Given the description of an element on the screen output the (x, y) to click on. 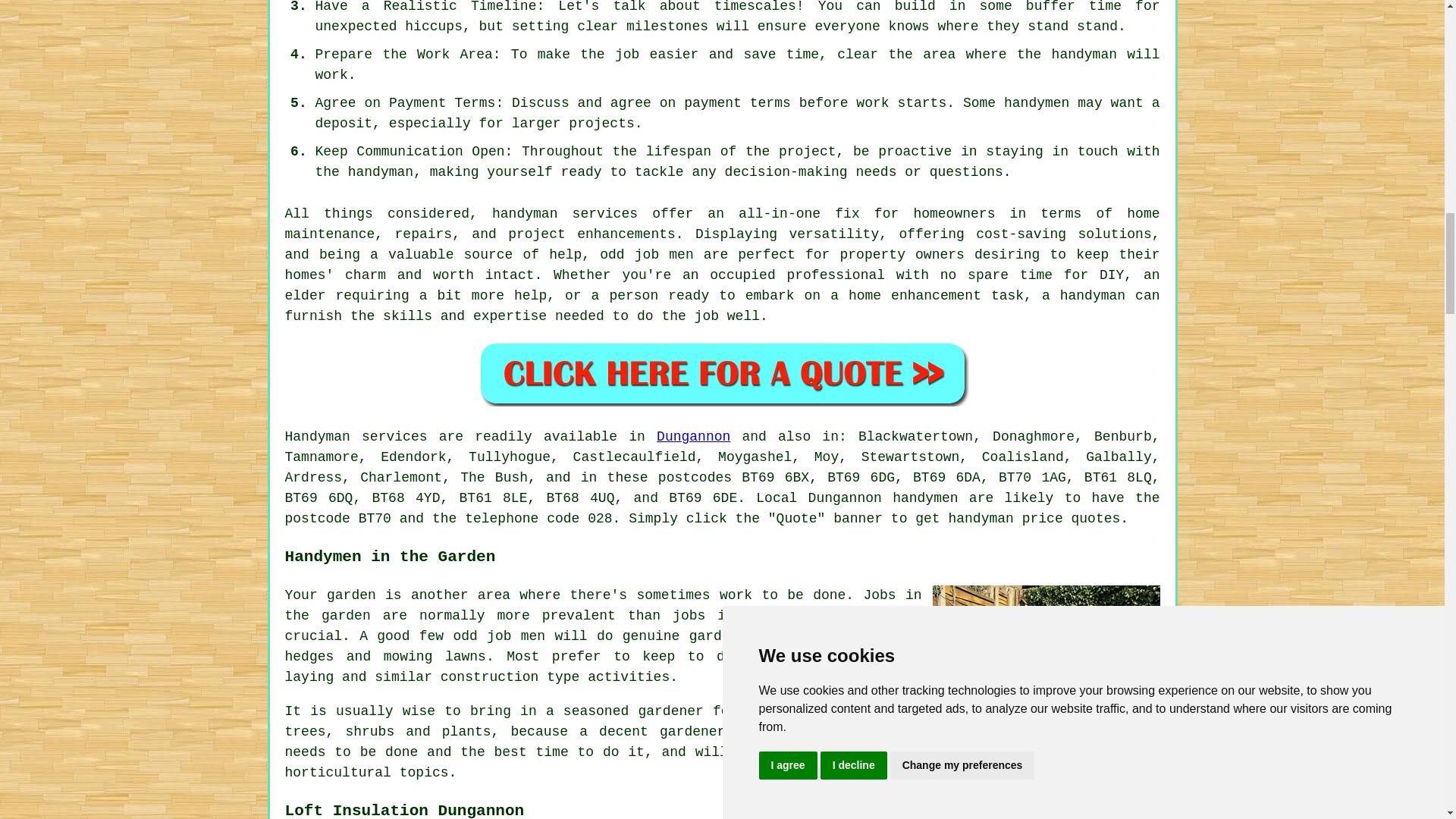
handyman (980, 518)
handyman (380, 171)
handymen (925, 498)
handyman services (564, 213)
Handyman services (356, 436)
